Given the description of an element on the screen output the (x, y) to click on. 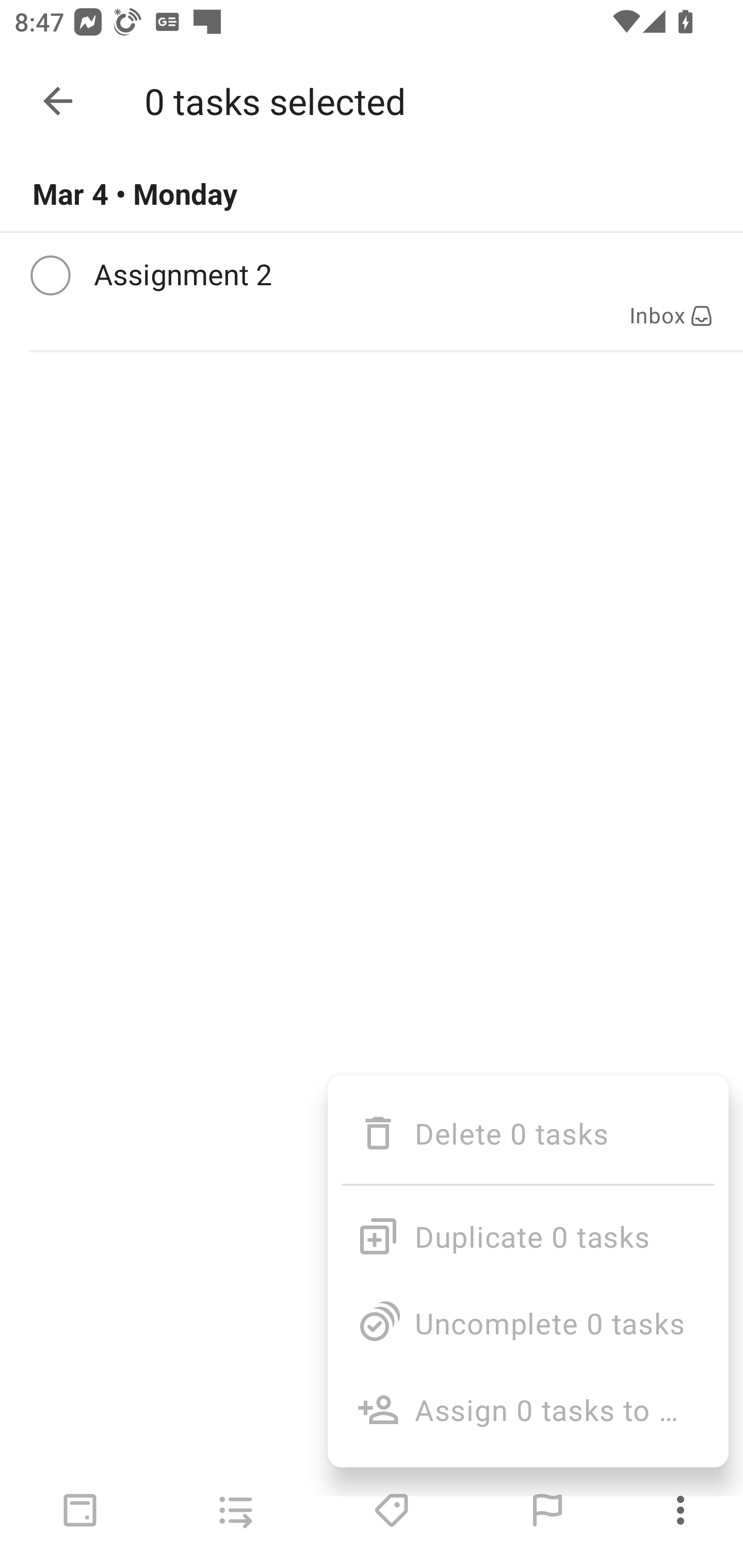
Delete 0 tasks (527, 1132)
Duplicate 0 tasks (527, 1227)
Uncomplete 0 tasks (527, 1322)
Assign 0 tasks to … (527, 1409)
